Given the description of an element on the screen output the (x, y) to click on. 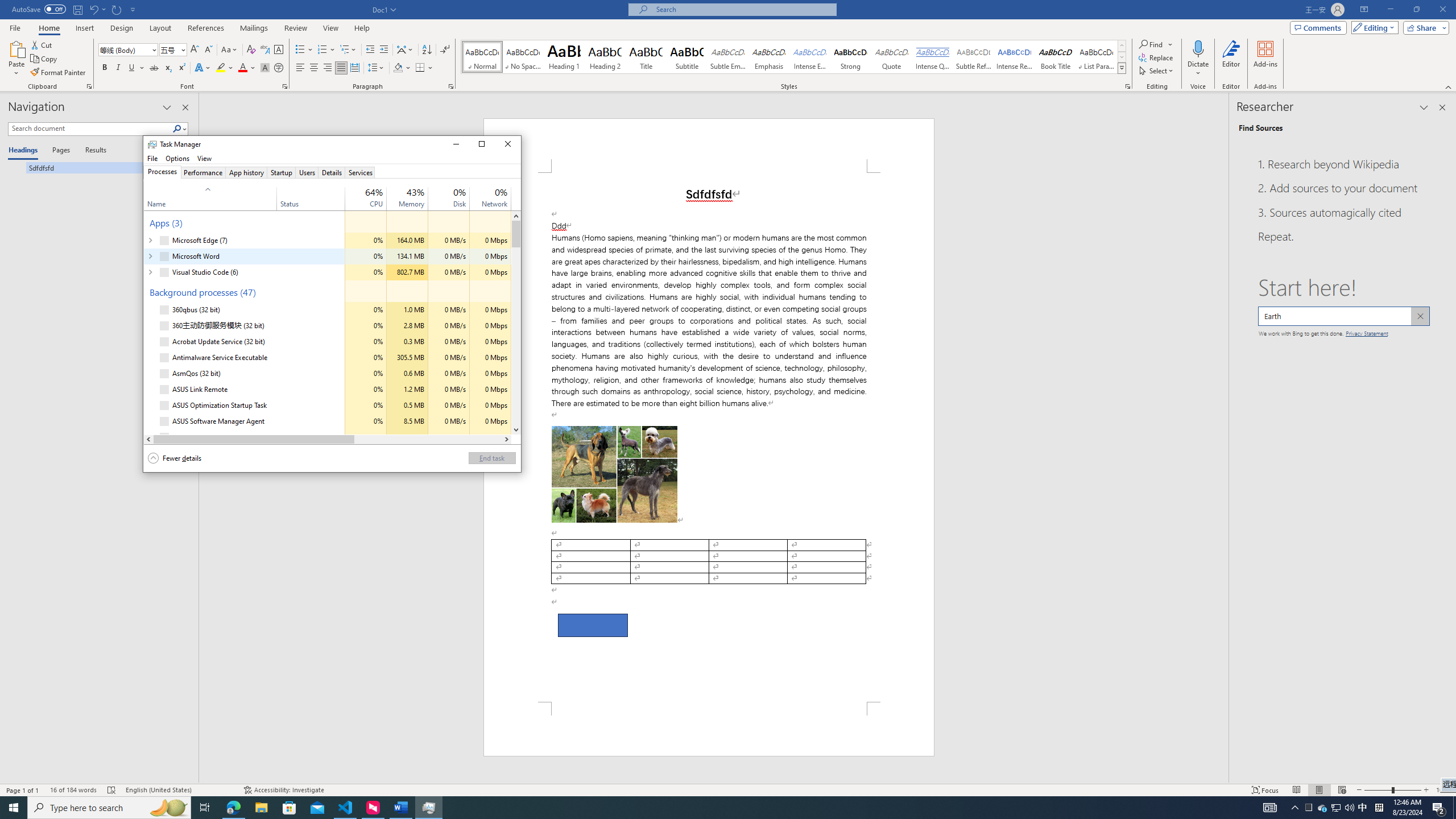
Running applications (694, 807)
System Promoted Notification Area (1308, 807)
